Given the description of an element on the screen output the (x, y) to click on. 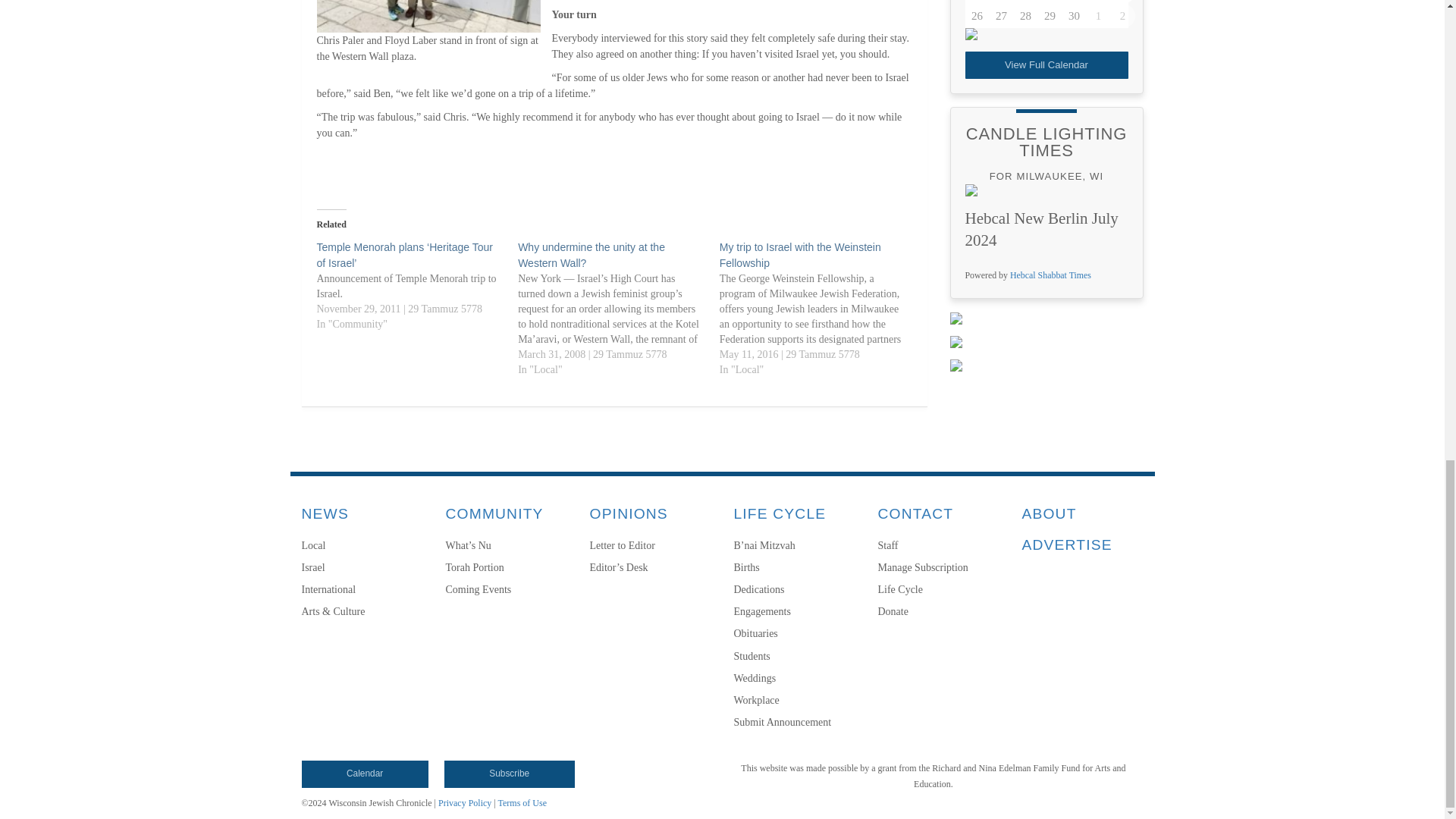
Why undermine the unity at the Western Wall? (591, 254)
My trip to Israel with the Weinstein Fellowship (820, 308)
Why undermine the unity at the Western Wall? (618, 308)
My trip to Israel with the Weinstein Fellowship (799, 254)
